Given the description of an element on the screen output the (x, y) to click on. 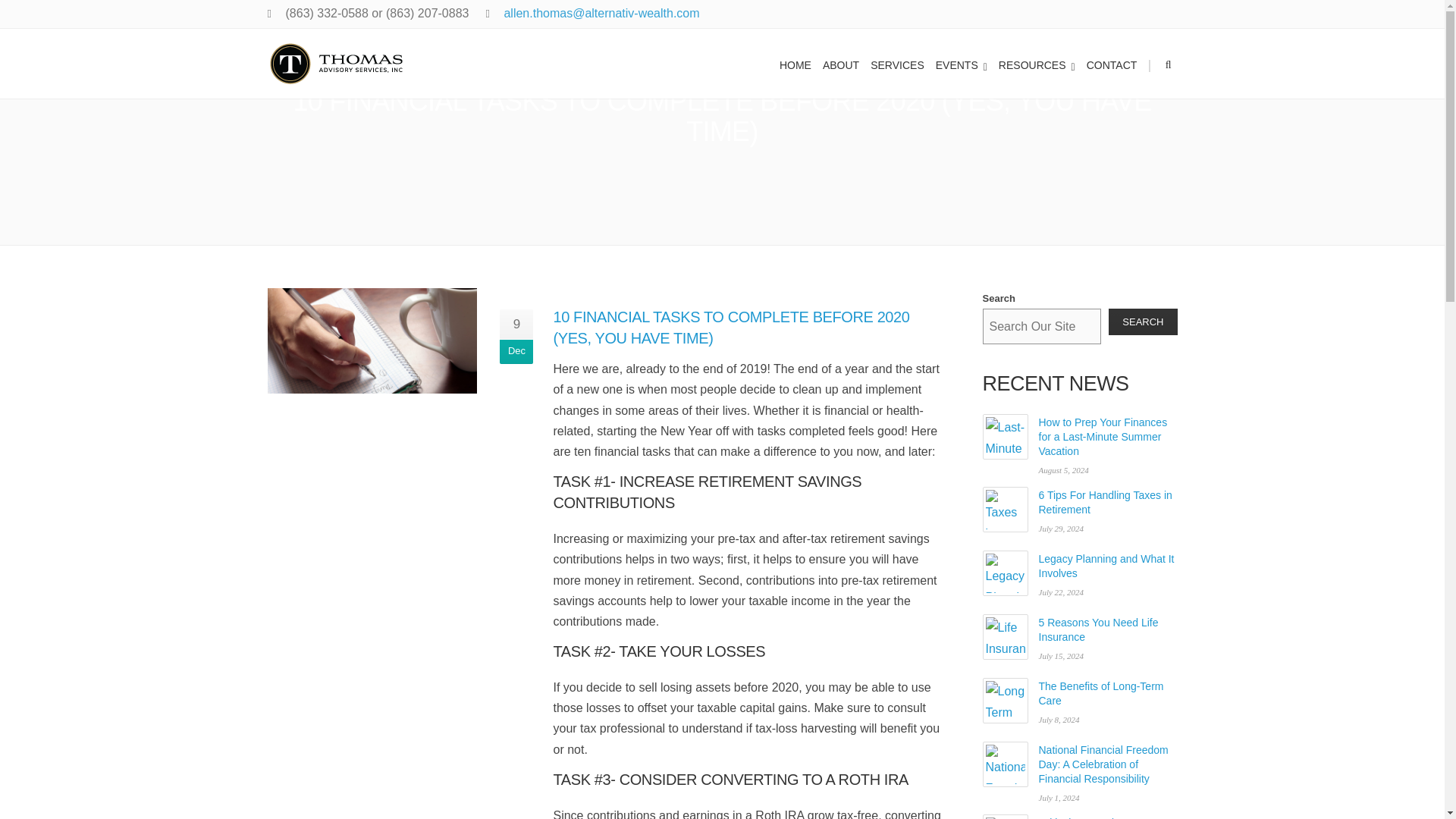
6 Tips For Handling Taxes in Retirement (1004, 509)
CONTACT (1113, 63)
Home (834, 41)
How to Prep Your Finances for a Last-Minute Summer Vacation (1103, 436)
News (876, 41)
The Benefits of Long-Term Care (1004, 700)
Legacy Planning and What It Involves (1004, 573)
5 Reasons You Need Life Insurance (1004, 637)
SEARCH (1142, 321)
EVENTS (962, 63)
How to Prep Your Finances for a Last-Minute Summer Vacation (1004, 436)
Critical IRS Update: Understanding 2025 Revenue Proposals (1004, 816)
RESOURCES (1038, 63)
SERVICES (898, 63)
